Given the description of an element on the screen output the (x, y) to click on. 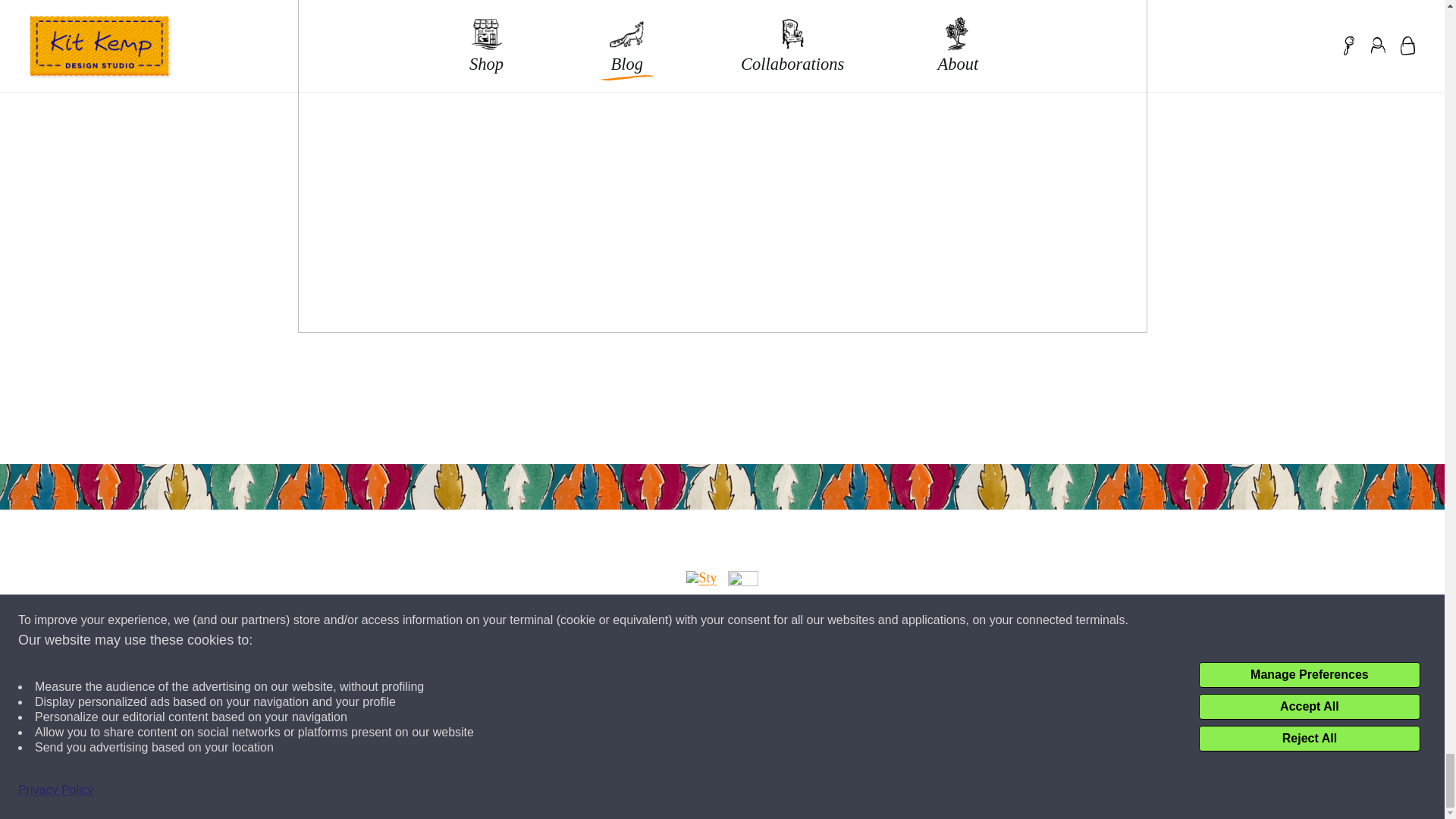
SIGN UP (574, 650)
Facebook (743, 585)
Instagram (700, 585)
